Given the description of an element on the screen output the (x, y) to click on. 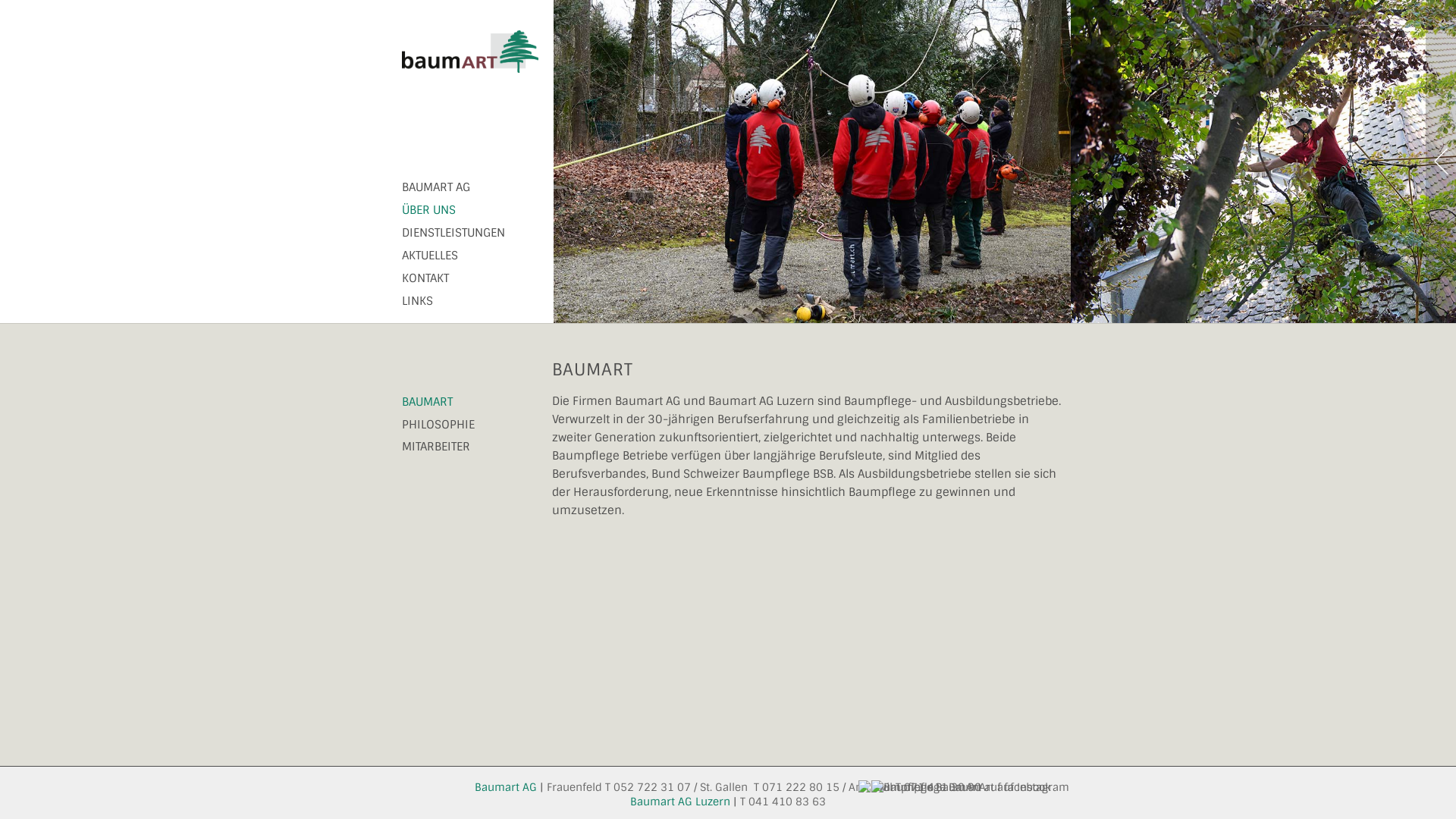
BAUMART Element type: text (426, 401)
MITARBEITER Element type: text (435, 446)
T 052 722 31 07 Element type: text (647, 786)
PHILOSOPHIE Element type: text (437, 424)
BAUMART AG Element type: text (435, 186)
T 071 411 30 90 Element type: text (938, 786)
KONTAKT Element type: text (424, 277)
LINKS Element type: text (417, 300)
DIENSTLEISTUNGEN Element type: text (453, 232)
AKTUELLES Element type: text (429, 255)
T 071 222 80 15 Element type: text (796, 786)
T 041 410 83 63 Element type: text (782, 801)
